Given the description of an element on the screen output the (x, y) to click on. 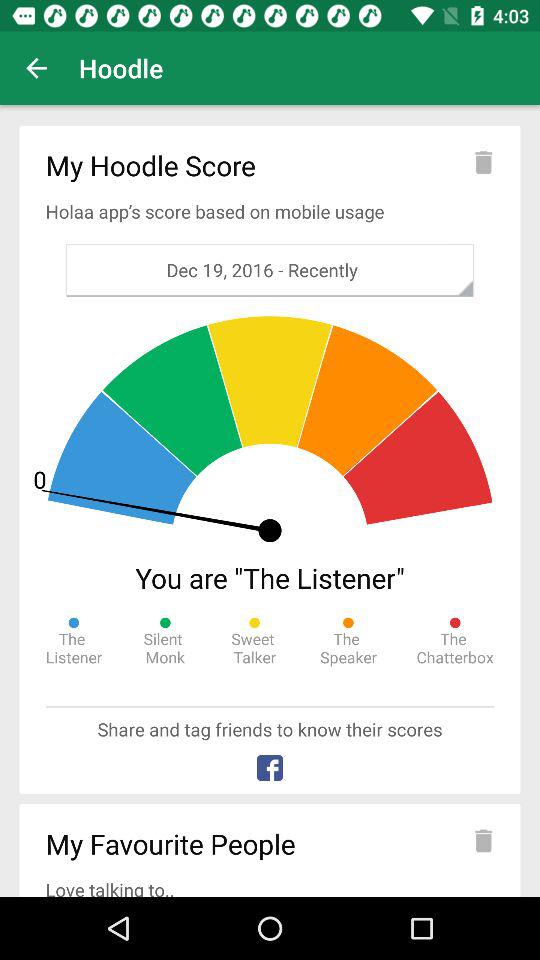
ddelete (483, 840)
